Given the description of an element on the screen output the (x, y) to click on. 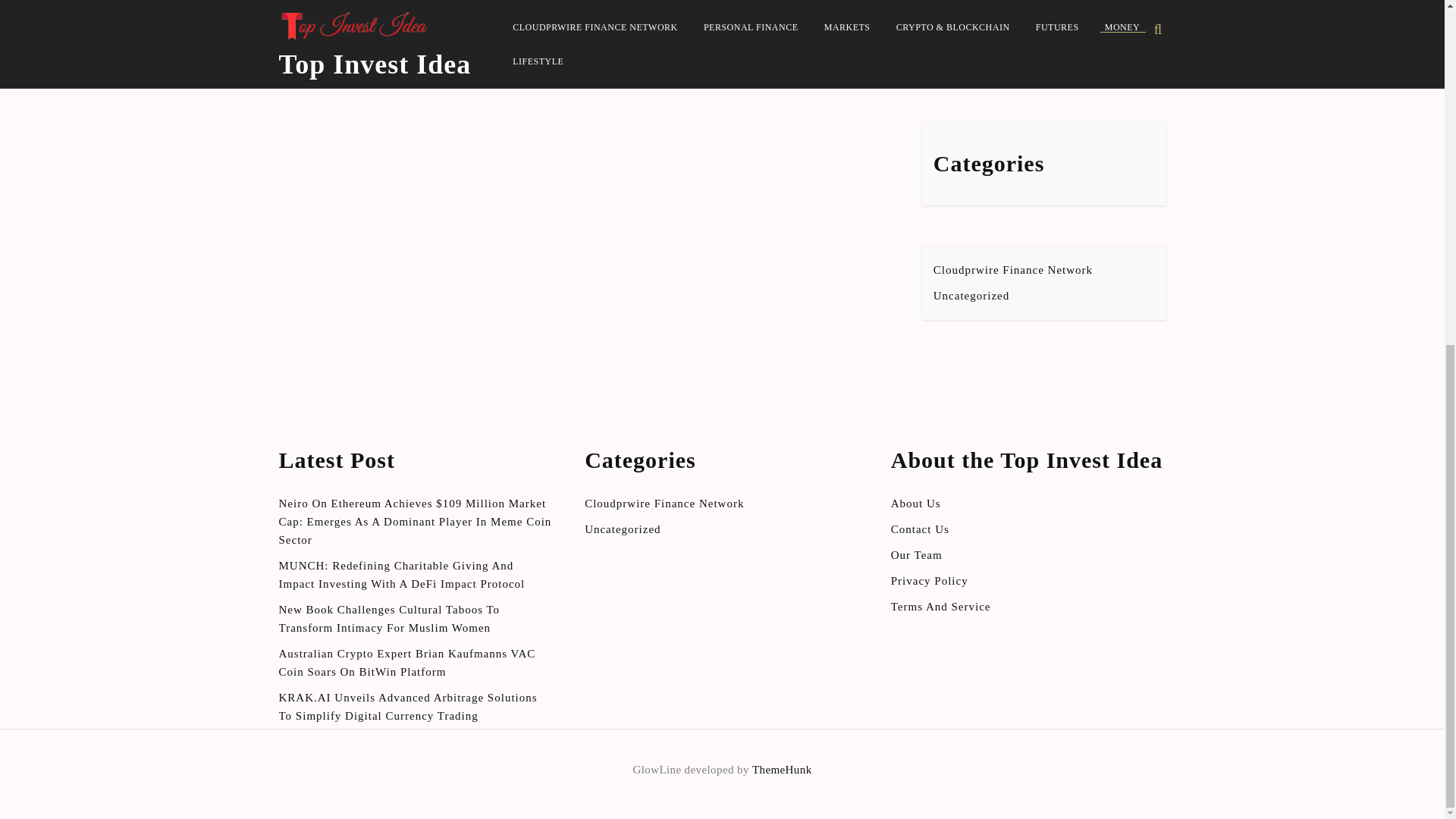
Terms And Service (941, 606)
Contact Us (920, 529)
ThemeHunk (782, 769)
Uncategorized (971, 295)
Privacy Policy (929, 580)
Cloudprwire Finance Network (1013, 269)
